Given the description of an element on the screen output the (x, y) to click on. 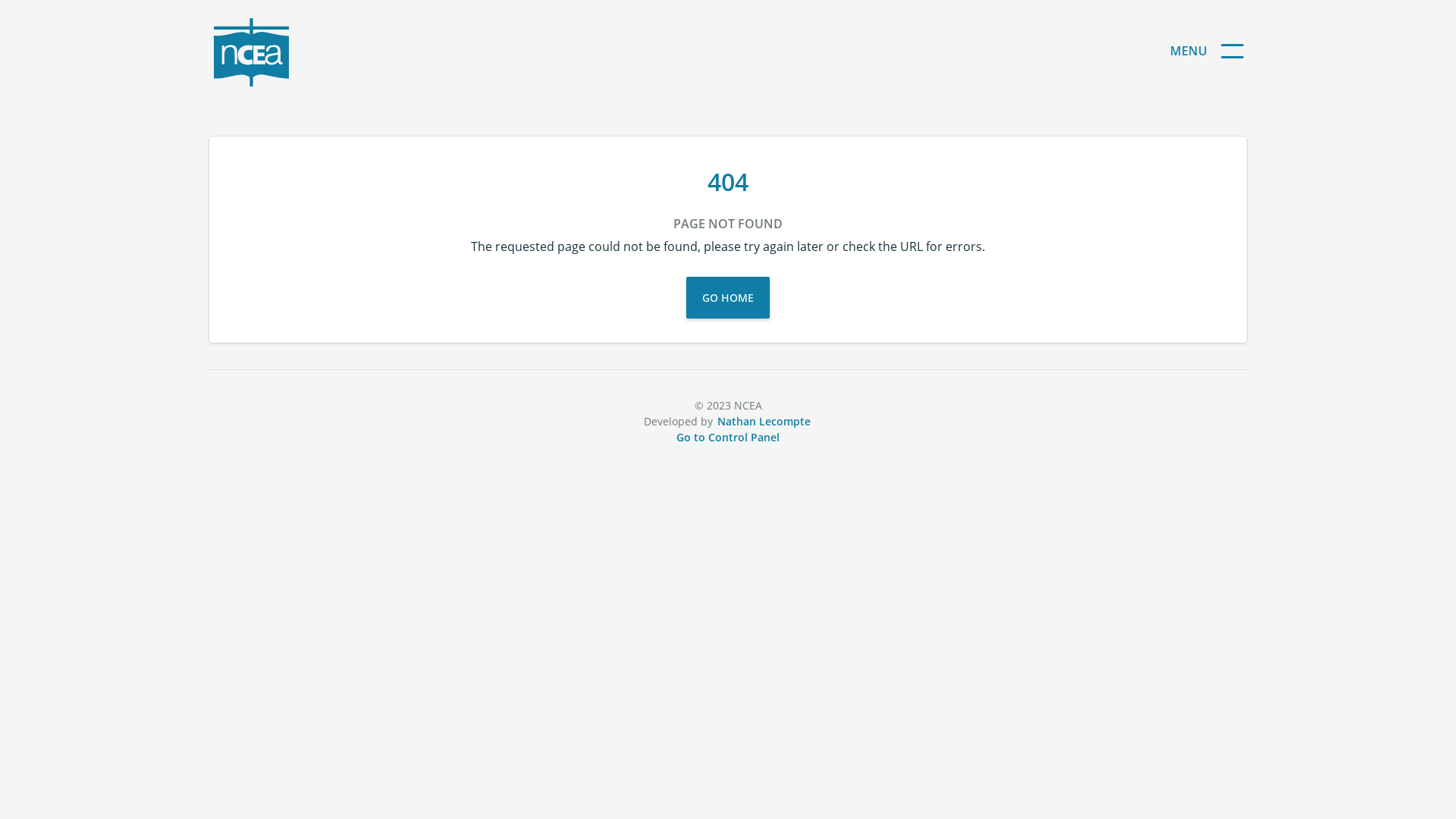
Nathan Lecompte Element type: text (763, 421)
Go to Control Panel Element type: text (727, 436)
GO HOME Element type: text (728, 297)
MENU Element type: text (1194, 50)
